Given the description of an element on the screen output the (x, y) to click on. 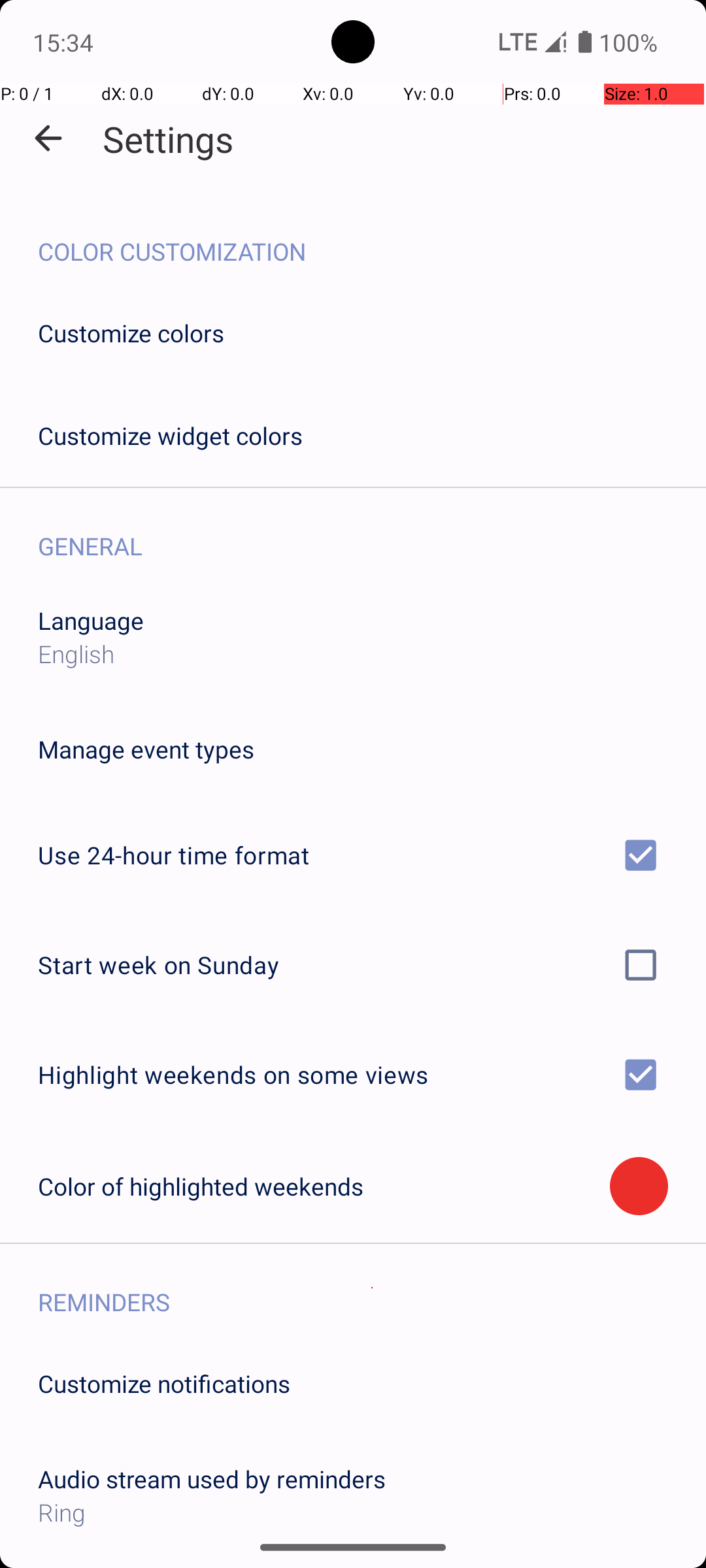
Color of highlighted weekends Element type: android.widget.TextView (323, 1186)
Ring Element type: android.widget.TextView (352, 1511)
